Given the description of an element on the screen output the (x, y) to click on. 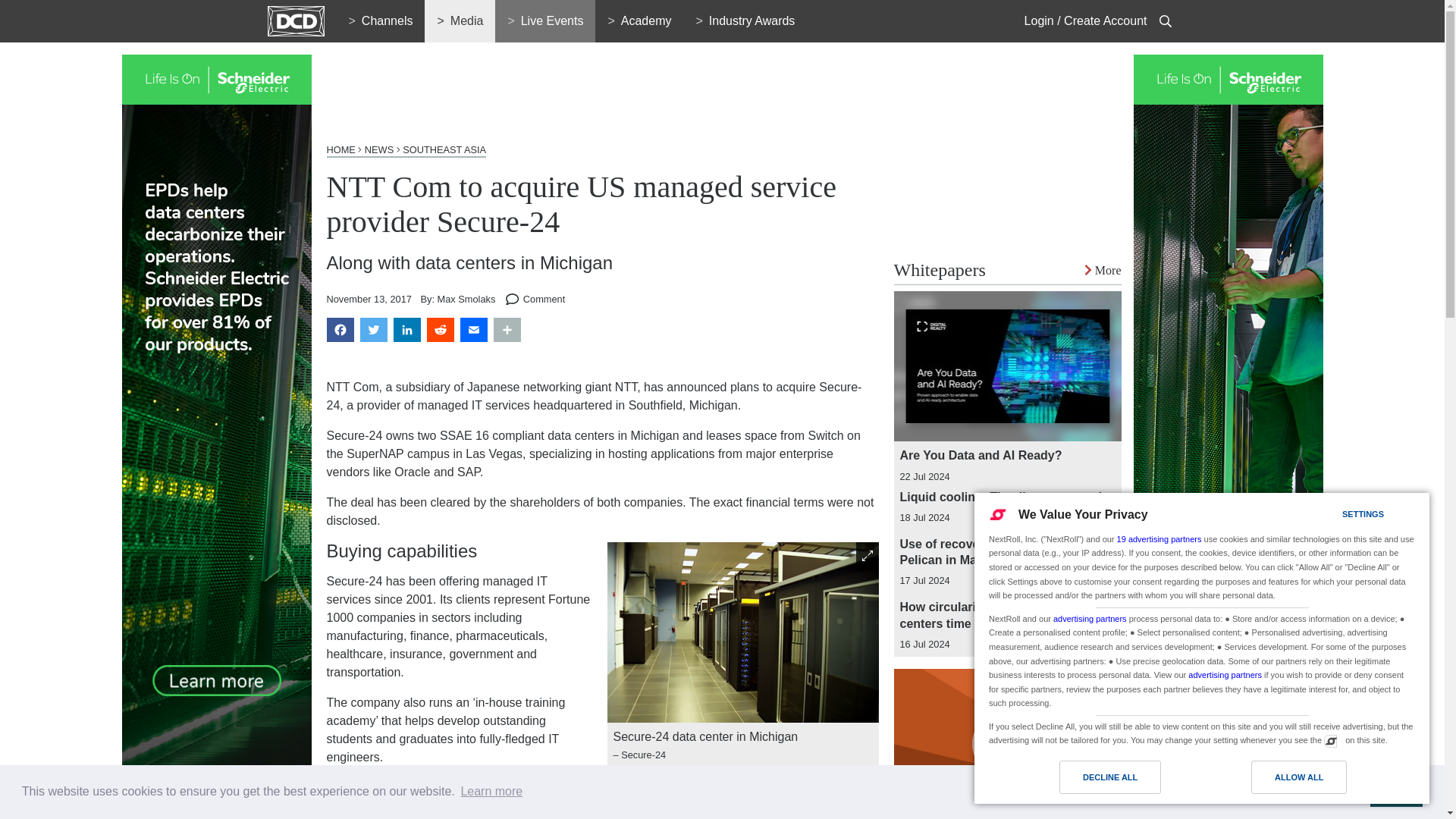
Live Events (545, 21)
Learn more (491, 791)
Industry Awards (744, 21)
3rd party ad content (601, 88)
Got it! (1396, 791)
Channels (380, 21)
Academy (638, 21)
Media (460, 21)
3rd party ad content (1007, 149)
